Given the description of an element on the screen output the (x, y) to click on. 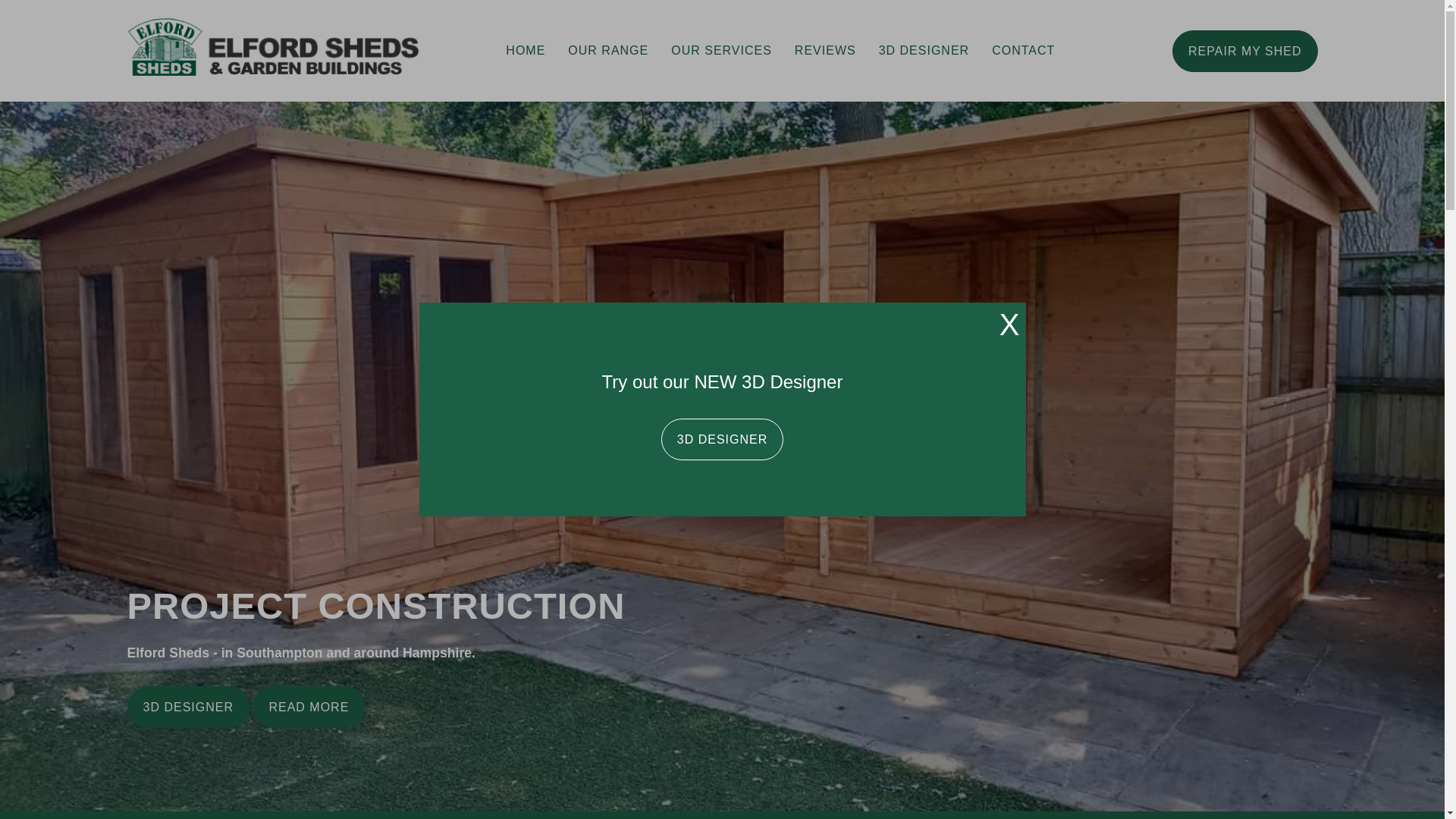
3D DESIGNER (722, 439)
REVIEWS (825, 50)
OUR SERVICES (721, 50)
OUR RANGE (607, 50)
3D DESIGNER (923, 50)
READ MORE (308, 707)
3D DESIGNER (188, 707)
HOME (525, 50)
REPAIR MY SHED (1244, 51)
CONTACT (1022, 50)
